Given the description of an element on the screen output the (x, y) to click on. 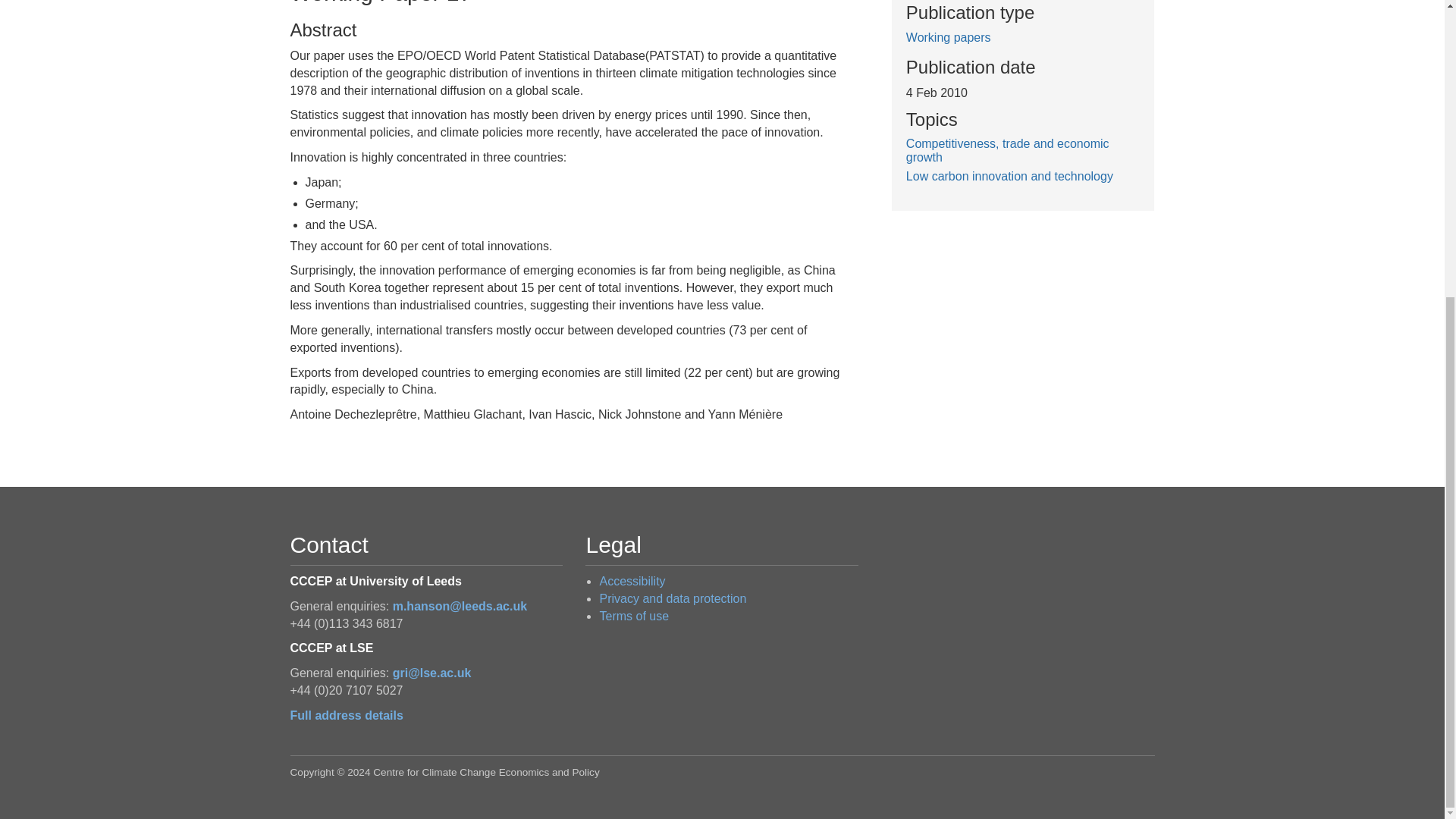
Working papers (948, 37)
Low carbon innovation and technology (1009, 175)
Accessibility (631, 581)
Full address details (346, 715)
Competitiveness, trade and economic growth (1007, 150)
